Given the description of an element on the screen output the (x, y) to click on. 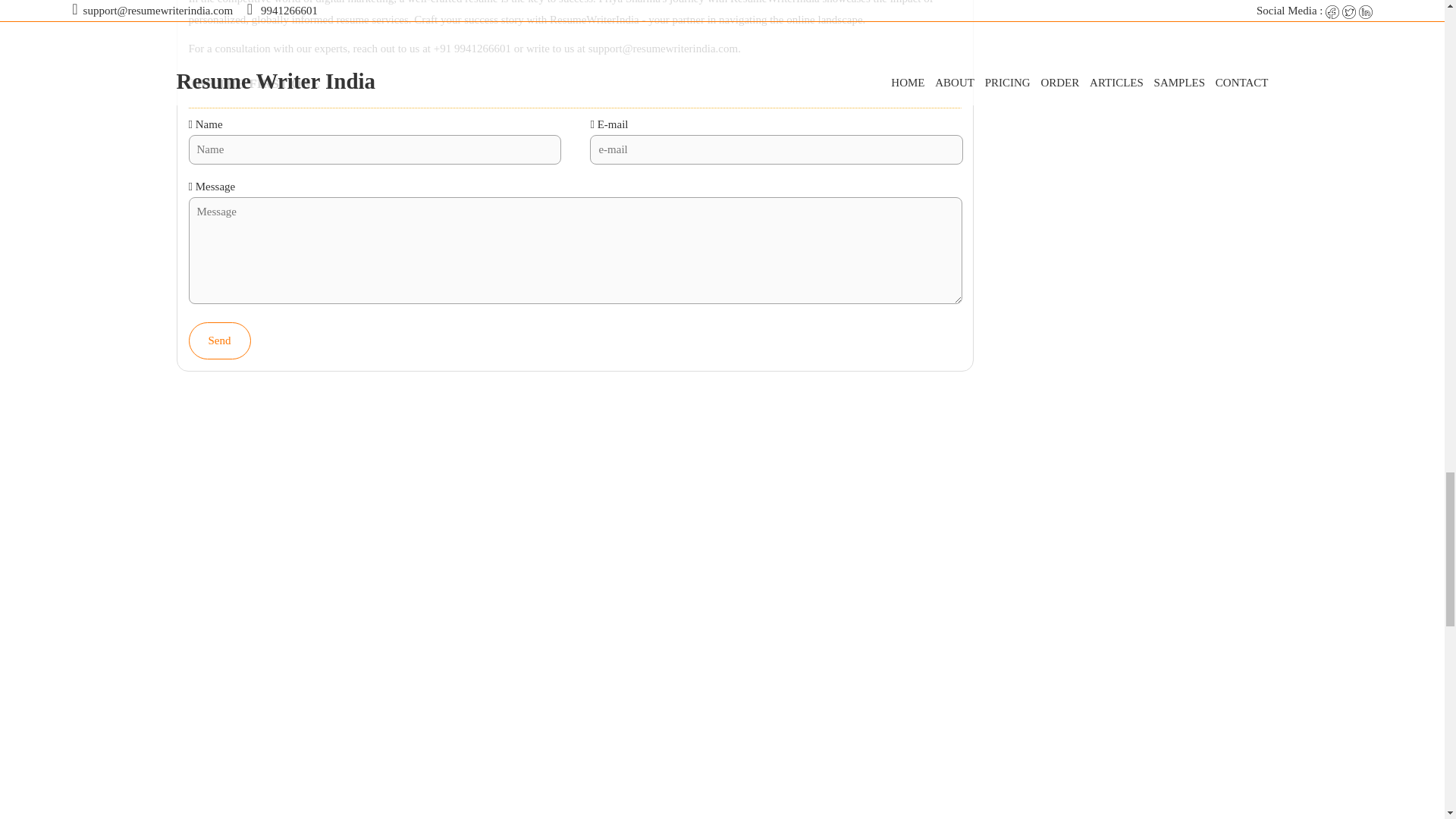
Order Now (696, 714)
Send (227, 312)
Place a Callback Request (821, 714)
WhatsApp Us (595, 714)
